Given the description of an element on the screen output the (x, y) to click on. 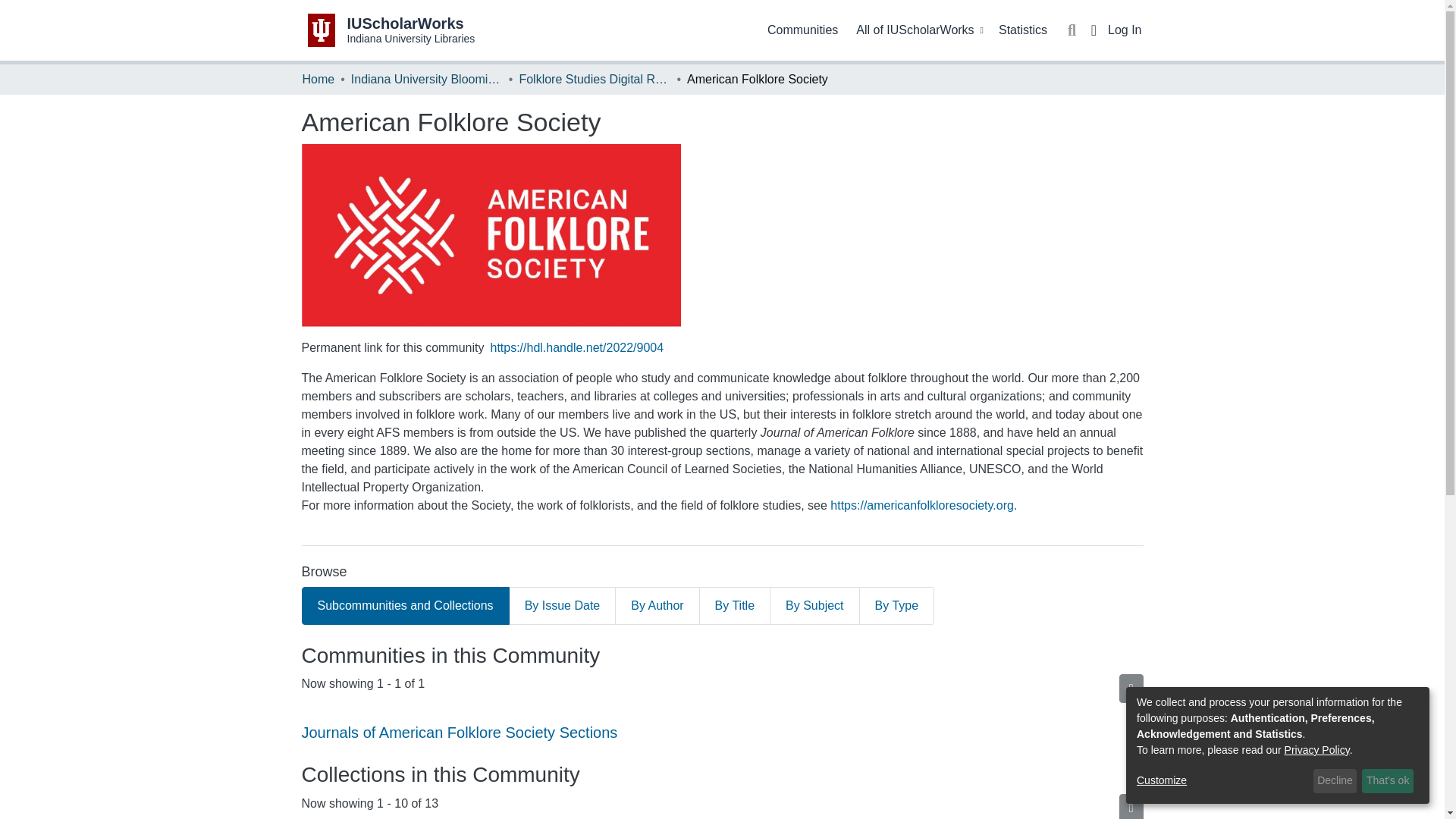
Subcommunities and Collections (405, 605)
All of IUScholarWorks (918, 30)
Folklore Studies Digital Resources (593, 79)
By Title (735, 605)
Search (1071, 30)
Language switch (1093, 30)
By Issue Date (391, 29)
By Subject (562, 605)
Pagination options (814, 605)
Home (1130, 688)
Communities (317, 79)
Indiana University Bloomington (802, 30)
Pagination options (426, 79)
By Type (1130, 806)
